Given the description of an element on the screen output the (x, y) to click on. 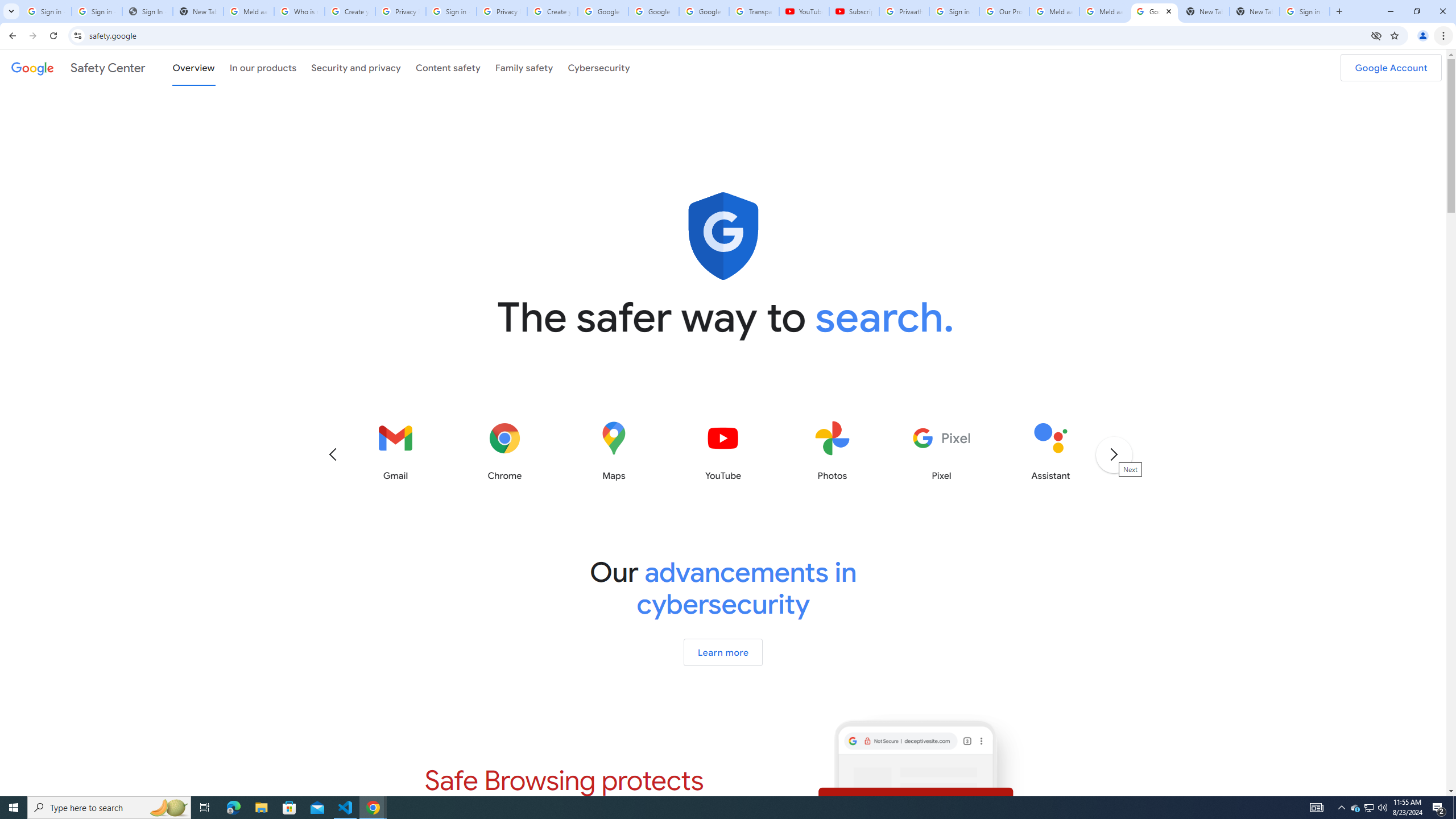
AutomationID: overview-products-carousel-desktop-5 (722, 451)
Subscriptions - YouTube (853, 11)
Cybersecurity (598, 67)
Sign in - Google Accounts (46, 11)
Learn more about YouTube (722, 451)
